Given the description of an element on the screen output the (x, y) to click on. 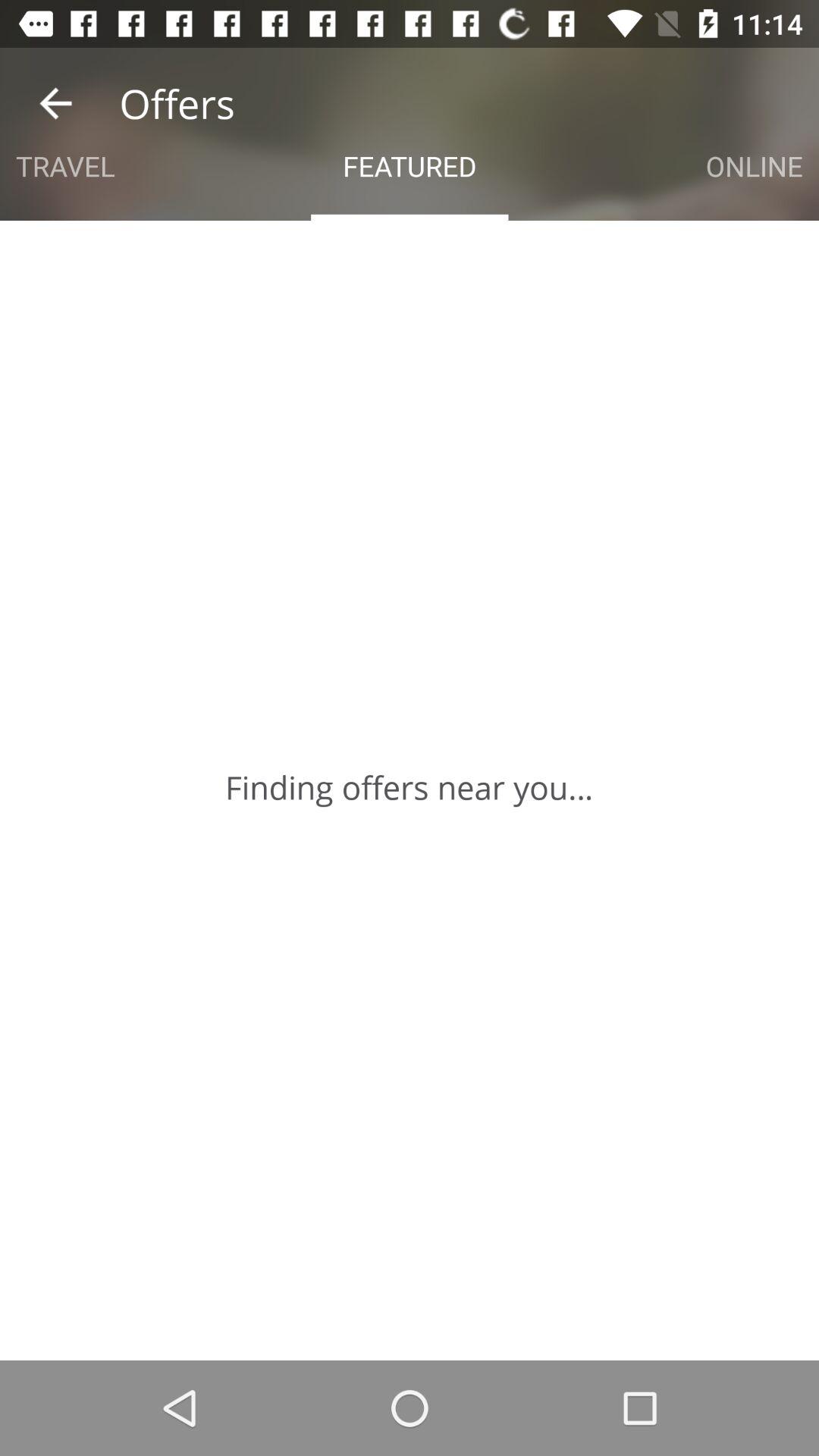
scroll until the online item (754, 165)
